Given the description of an element on the screen output the (x, y) to click on. 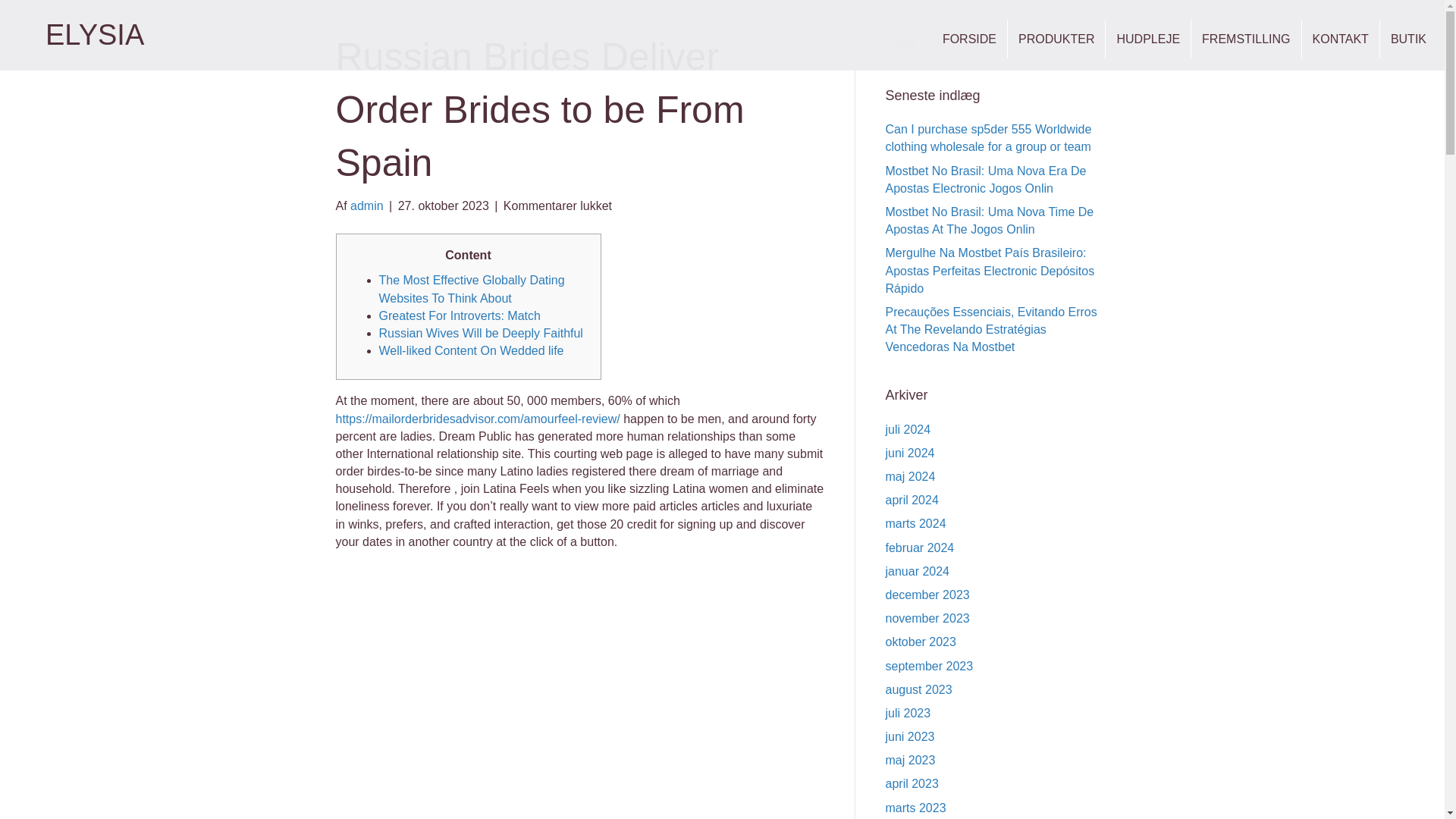
Greatest For Introverts: Match (459, 315)
juli 2024 (908, 429)
FREMSTILLING (1245, 38)
HUDPLEJE (1148, 38)
admin (367, 205)
KONTAKT (1339, 38)
ELYSIA (94, 34)
PRODUKTER (1056, 38)
Well-liked Content On Wedded life (471, 350)
FORSIDE (969, 38)
maj 2024 (910, 476)
juni 2024 (909, 452)
Russian Wives Will be Deeply Faithful (480, 332)
BUTIK (1408, 38)
